Given the description of an element on the screen output the (x, y) to click on. 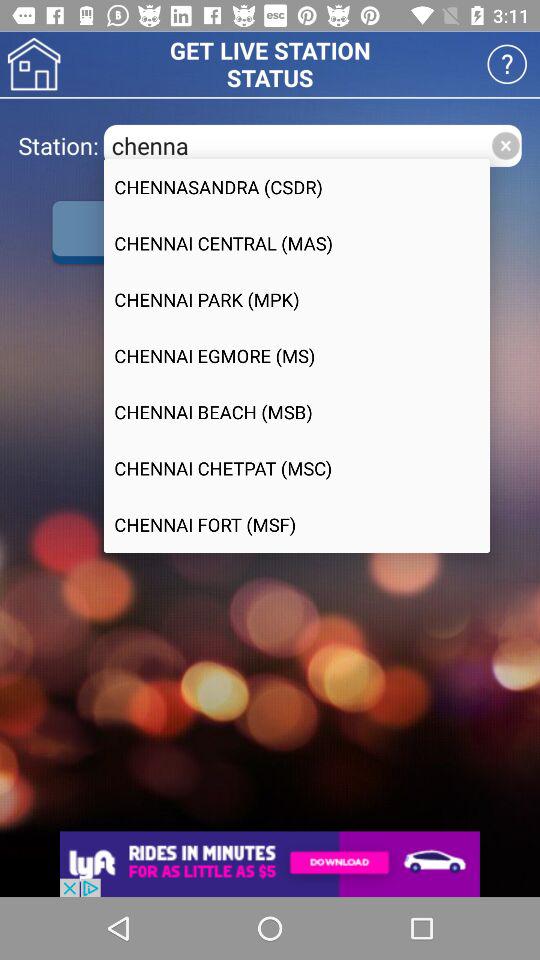
cancel option (505, 145)
